Given the description of an element on the screen output the (x, y) to click on. 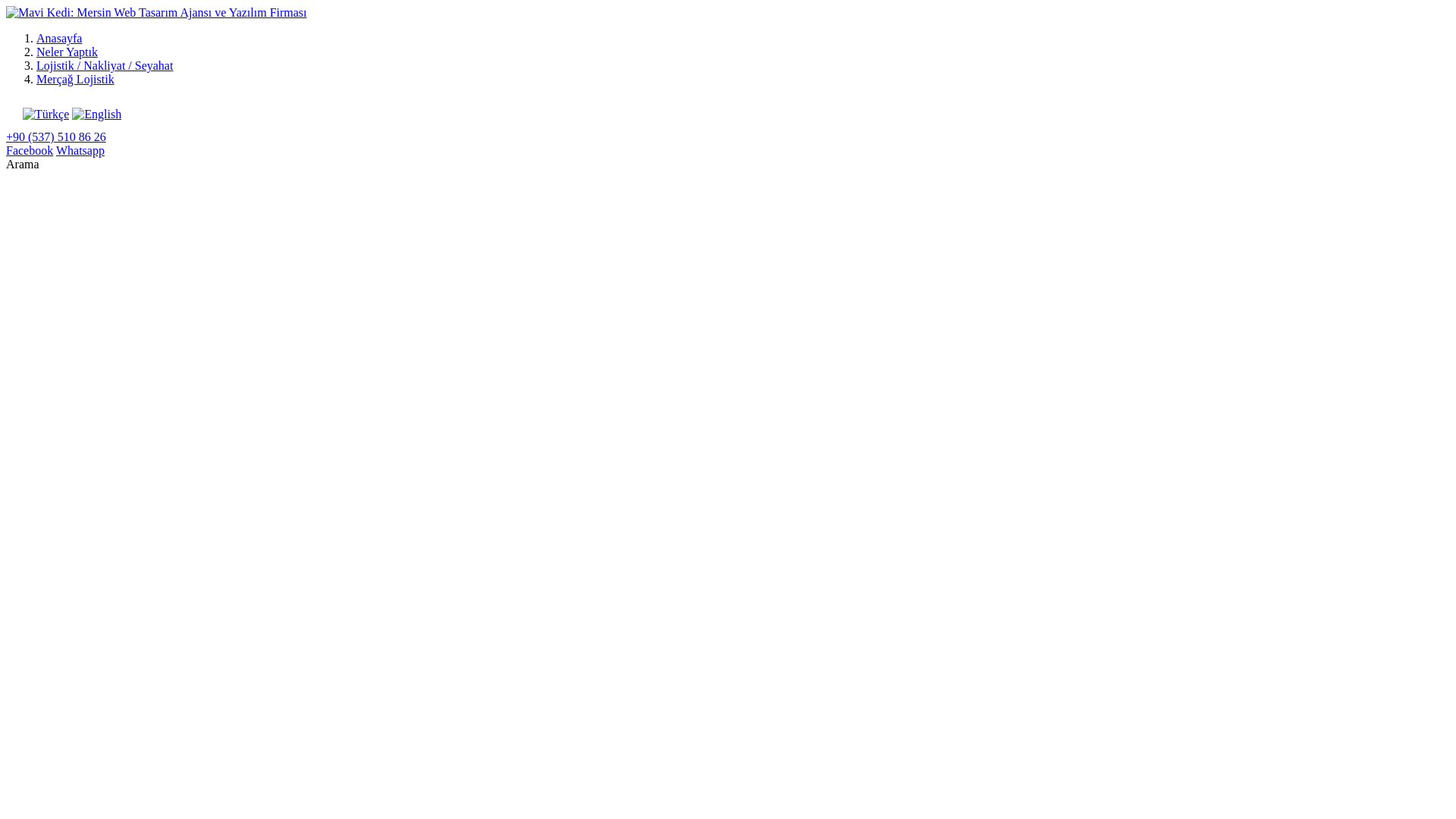
Anasayfa Element type: text (58, 37)
Facebook Element type: text (29, 150)
Lojistik / Nakliyat / Seyahat Element type: text (104, 65)
+90 (537) 510 86 26 Element type: text (56, 136)
English Element type: hover (96, 114)
Whatsapp Element type: text (80, 150)
English Element type: hover (96, 113)
